Given the description of an element on the screen output the (x, y) to click on. 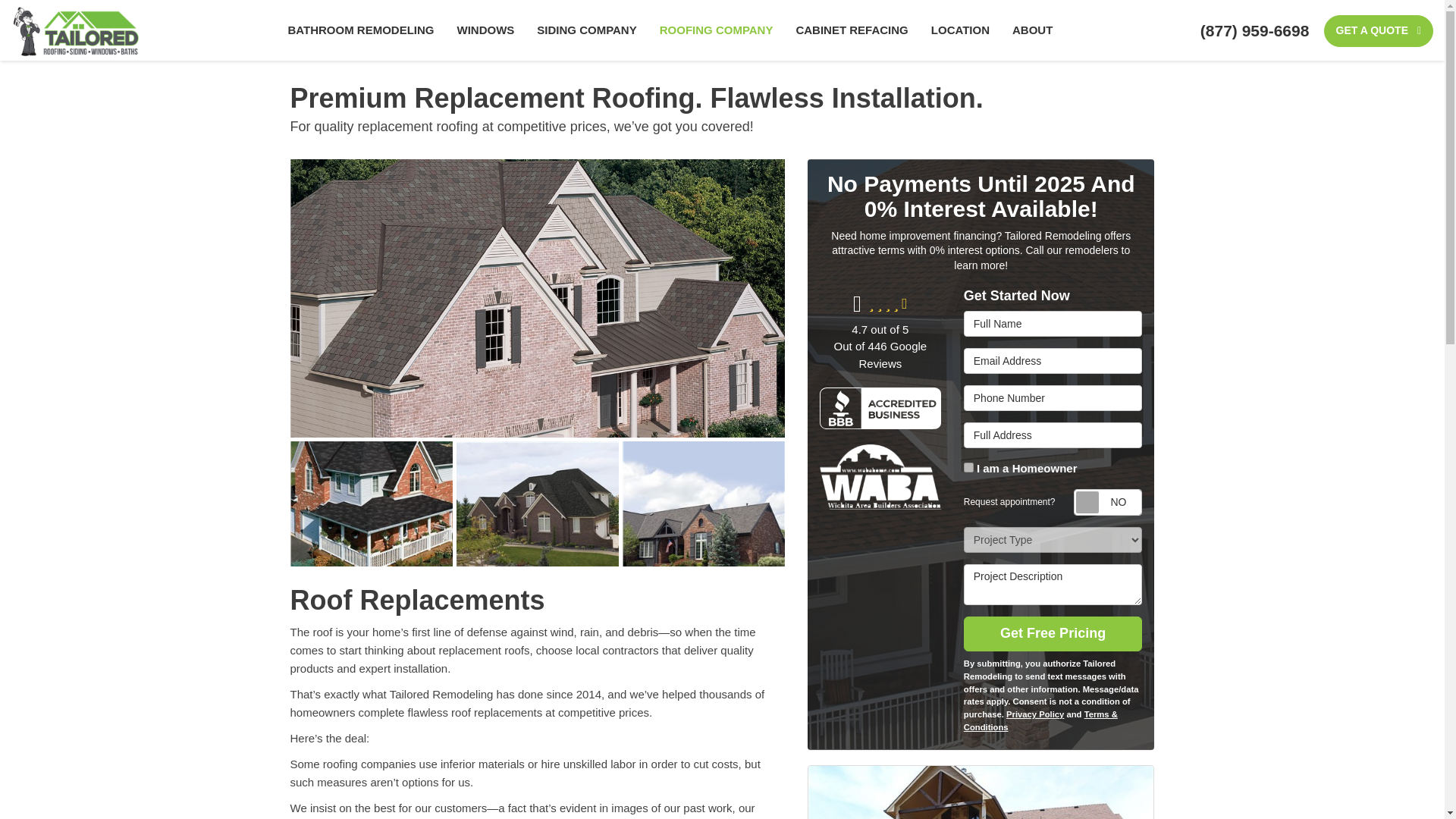
WINDOWS (485, 30)
GET A QUOTE (1377, 30)
ROOFING COMPANY (715, 30)
GET A QUOTE (1377, 30)
LOCATION (960, 30)
false (968, 467)
ABOUT (1032, 30)
BATHROOM REMODELING (360, 30)
CABINET REFACING (851, 30)
SIDING COMPANY (586, 30)
